Given the description of an element on the screen output the (x, y) to click on. 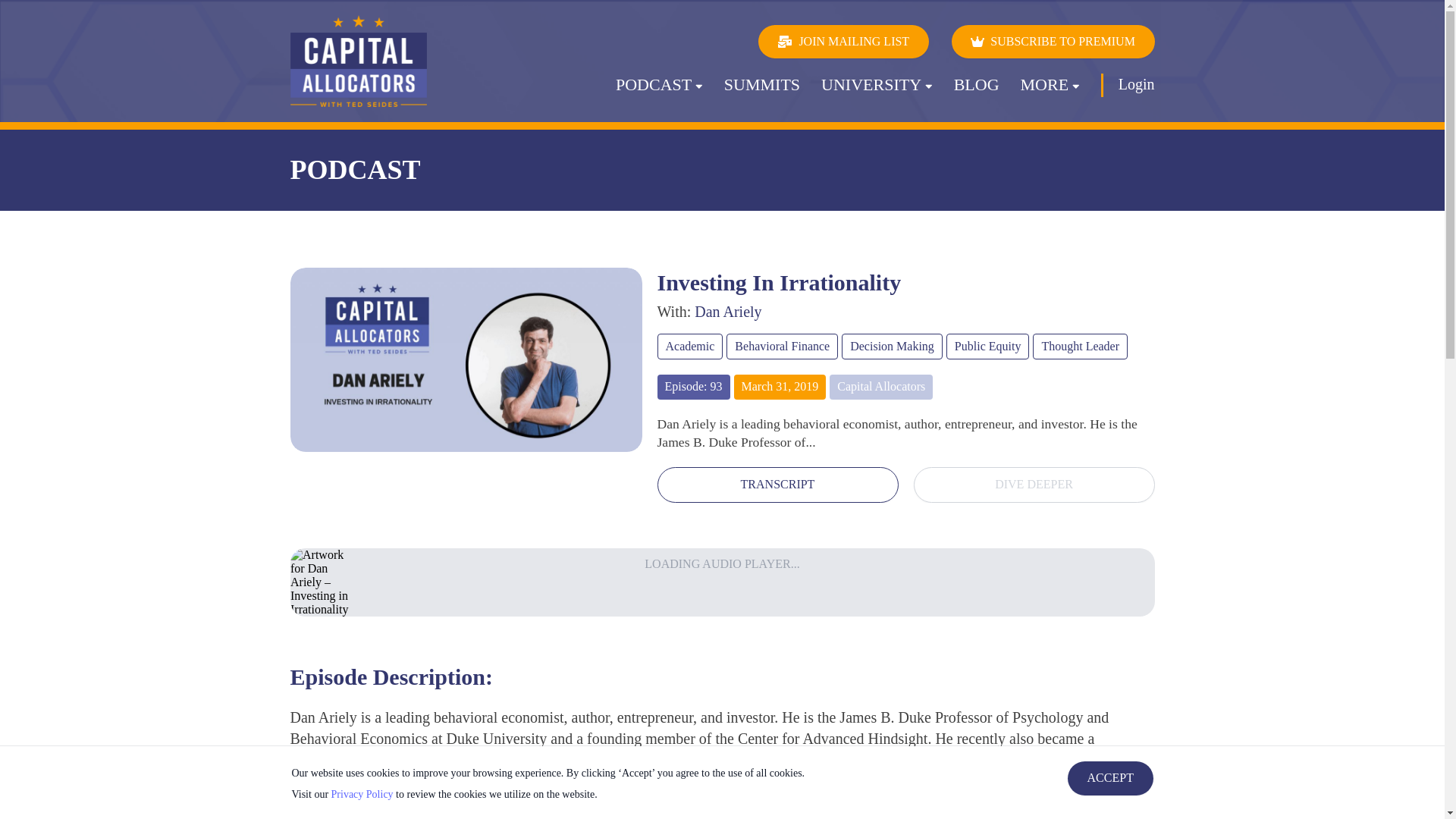
Login (1136, 84)
UNIVERSITY (877, 92)
PODCAST (659, 92)
SUMMITS (761, 92)
SUBSCRIBE TO PREMIUM (1053, 41)
MORE (1050, 92)
BLOG (975, 92)
JOIN MAILING LIST (843, 41)
